Given the description of an element on the screen output the (x, y) to click on. 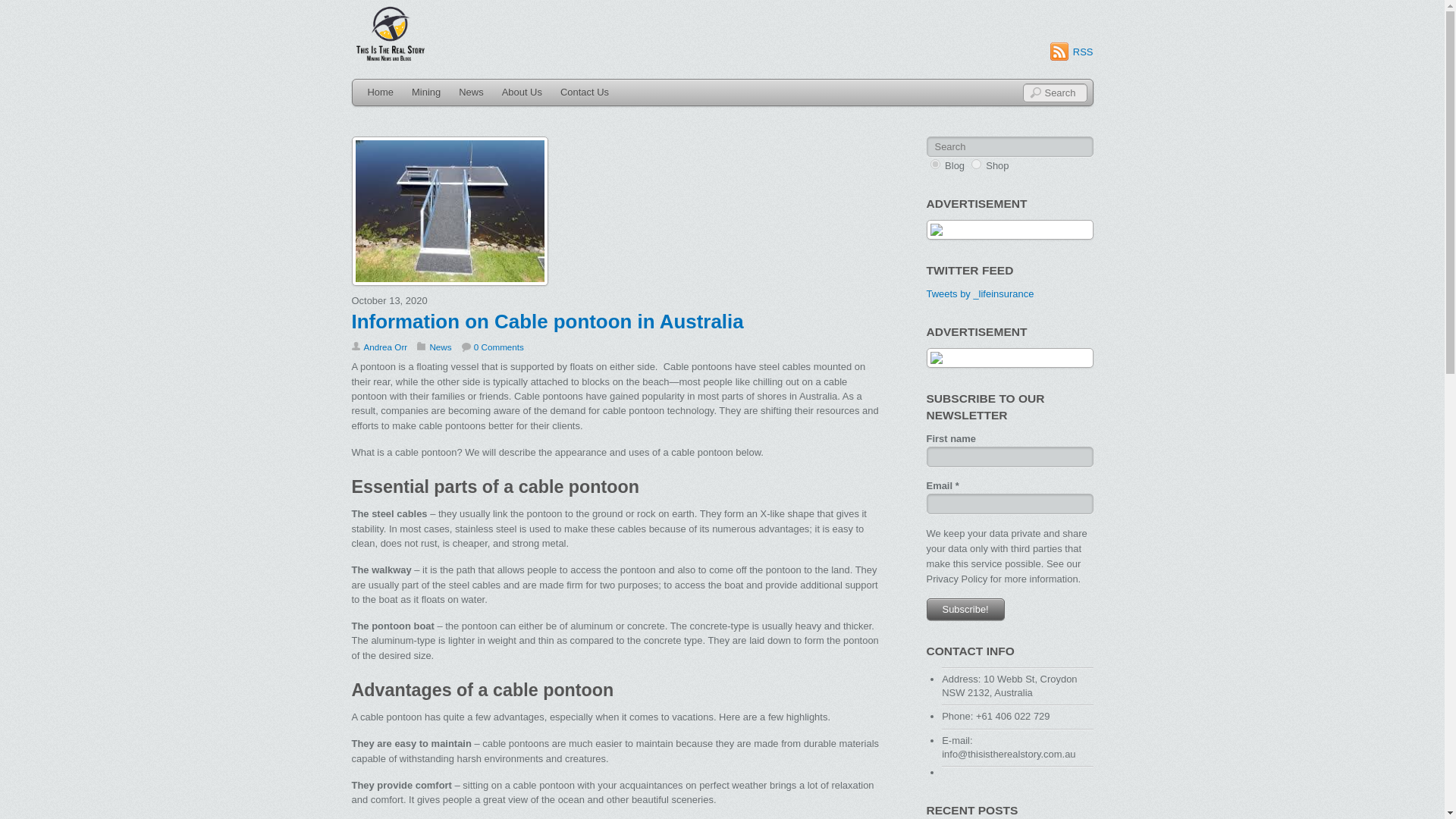
Subscribe! (965, 608)
First name (1009, 456)
About Us (522, 92)
product (976, 163)
Information on Cable pontoon in Australia (548, 321)
post (934, 163)
Email (1009, 503)
This Is The Real Story (390, 60)
0 Comments (492, 346)
product (976, 163)
News (440, 347)
Mining (426, 92)
Home (380, 92)
Contact Us (584, 92)
post (934, 163)
